Given the description of an element on the screen output the (x, y) to click on. 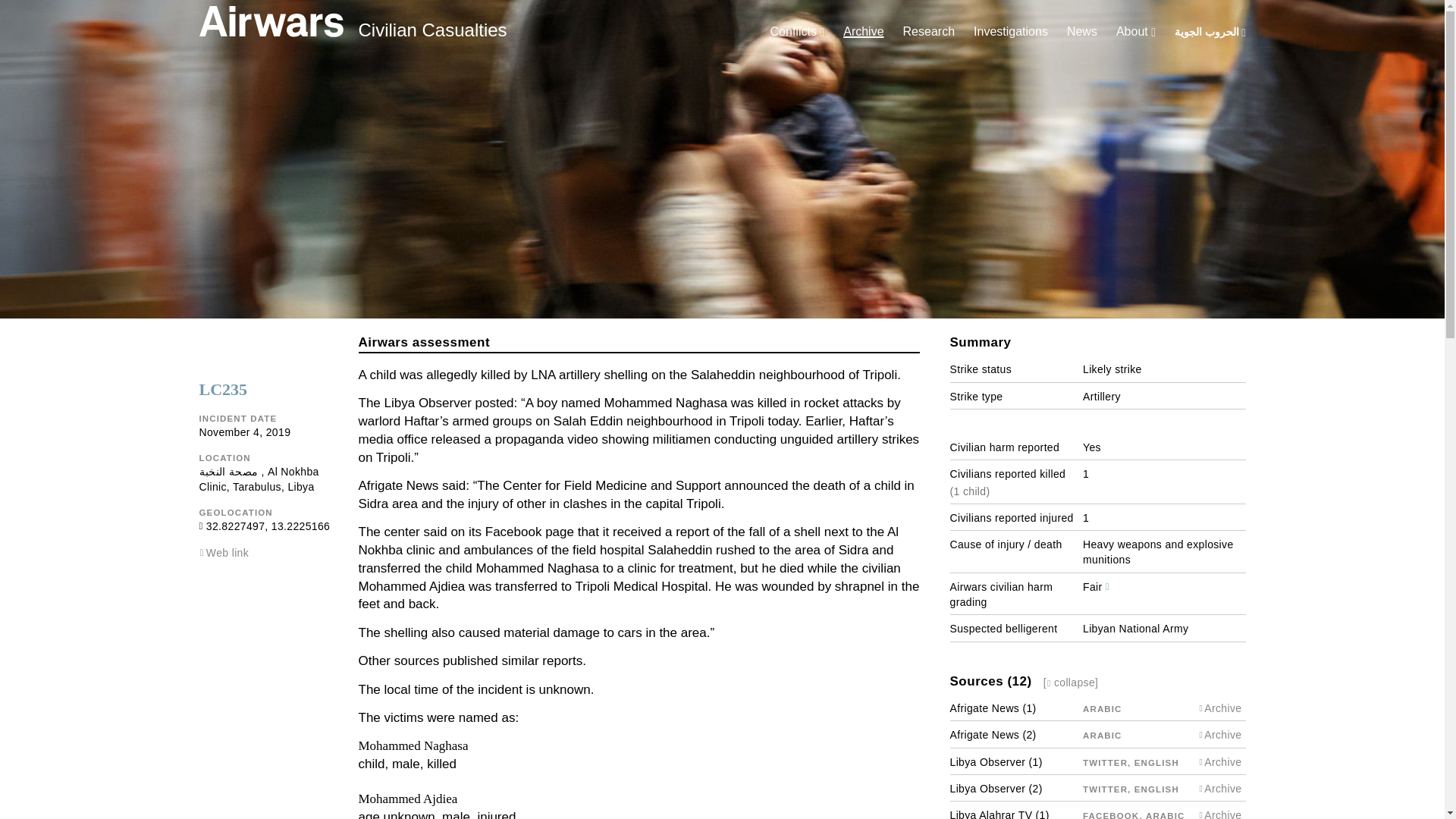
Investigations (1011, 31)
Archive (863, 31)
Web link (227, 552)
News (1082, 31)
Research (928, 31)
